Given the description of an element on the screen output the (x, y) to click on. 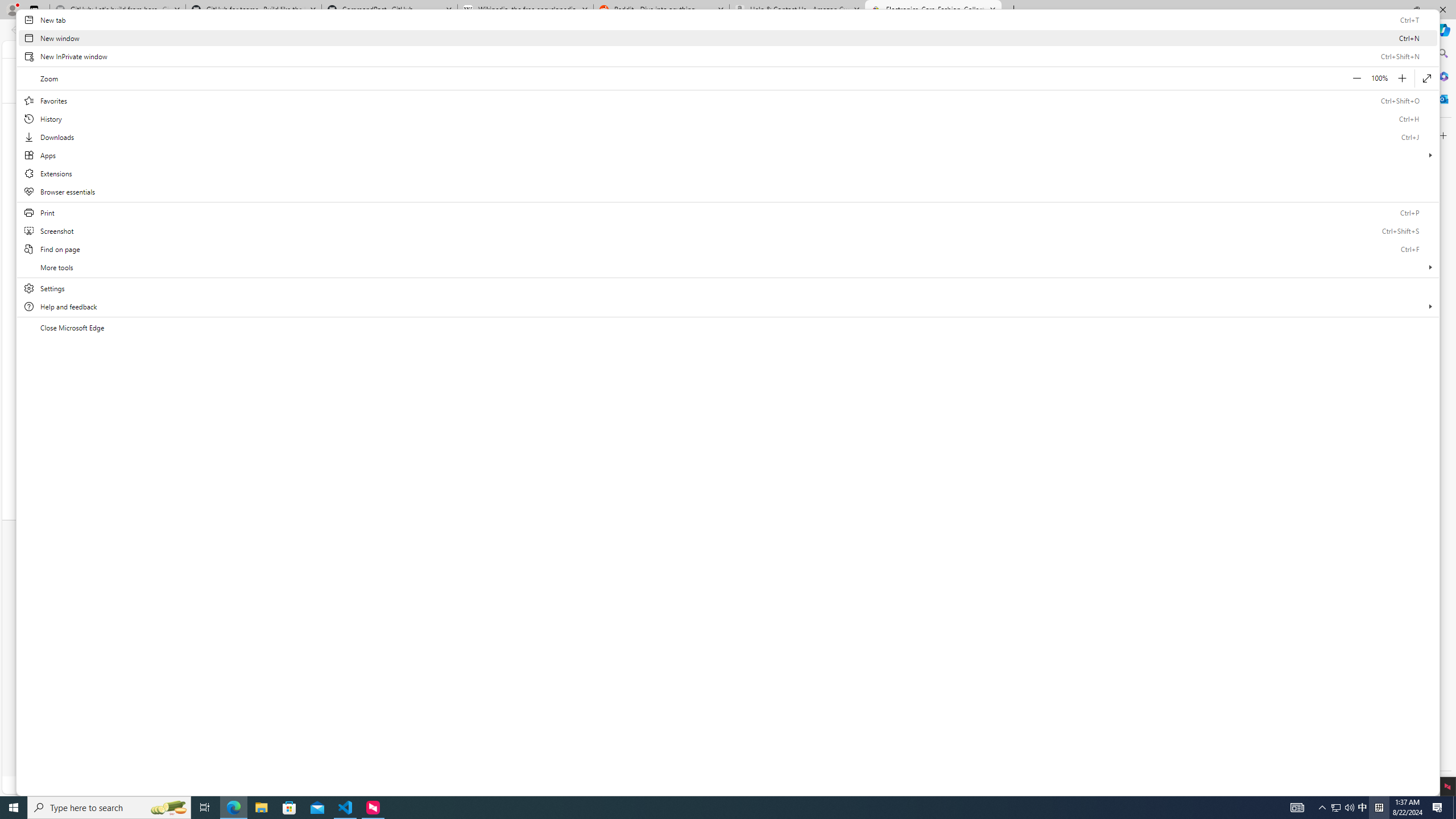
ElectronicsExpand: Electronics (494, 112)
Toys (1023, 433)
SportsExpand: Sports (700, 112)
Bidding & buying help (412, 600)
Careers (809, 614)
Contact us (981, 587)
Settings and more (727, 173)
Government relations (858, 628)
Investors (858, 600)
News (858, 587)
Irresistible luxury from head to toe (716, 215)
Pre-loved Luxury (920, 433)
